Given the description of an element on the screen output the (x, y) to click on. 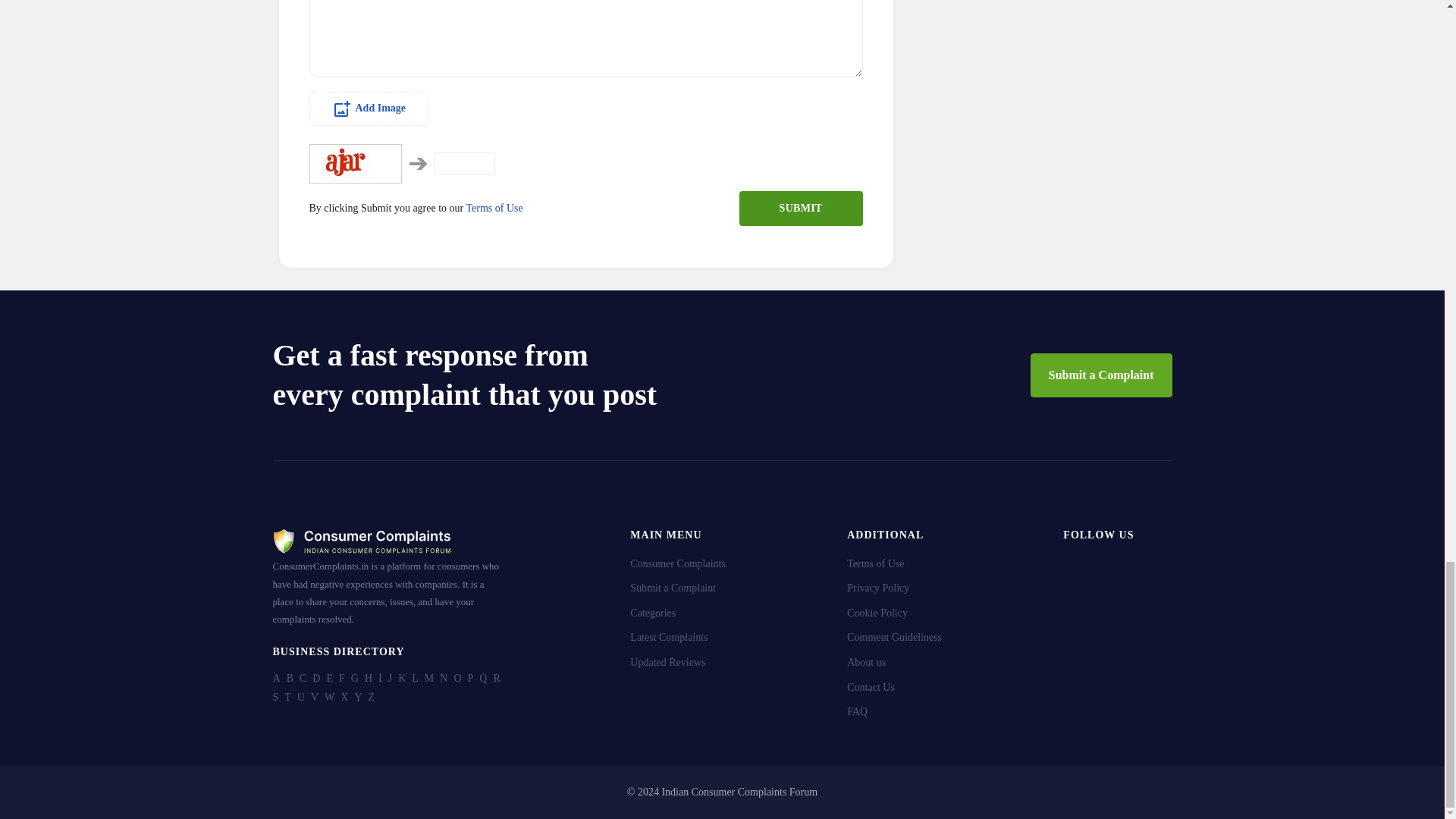
Submit a Complaint (1101, 374)
Terms of Use (493, 207)
